Given the description of an element on the screen output the (x, y) to click on. 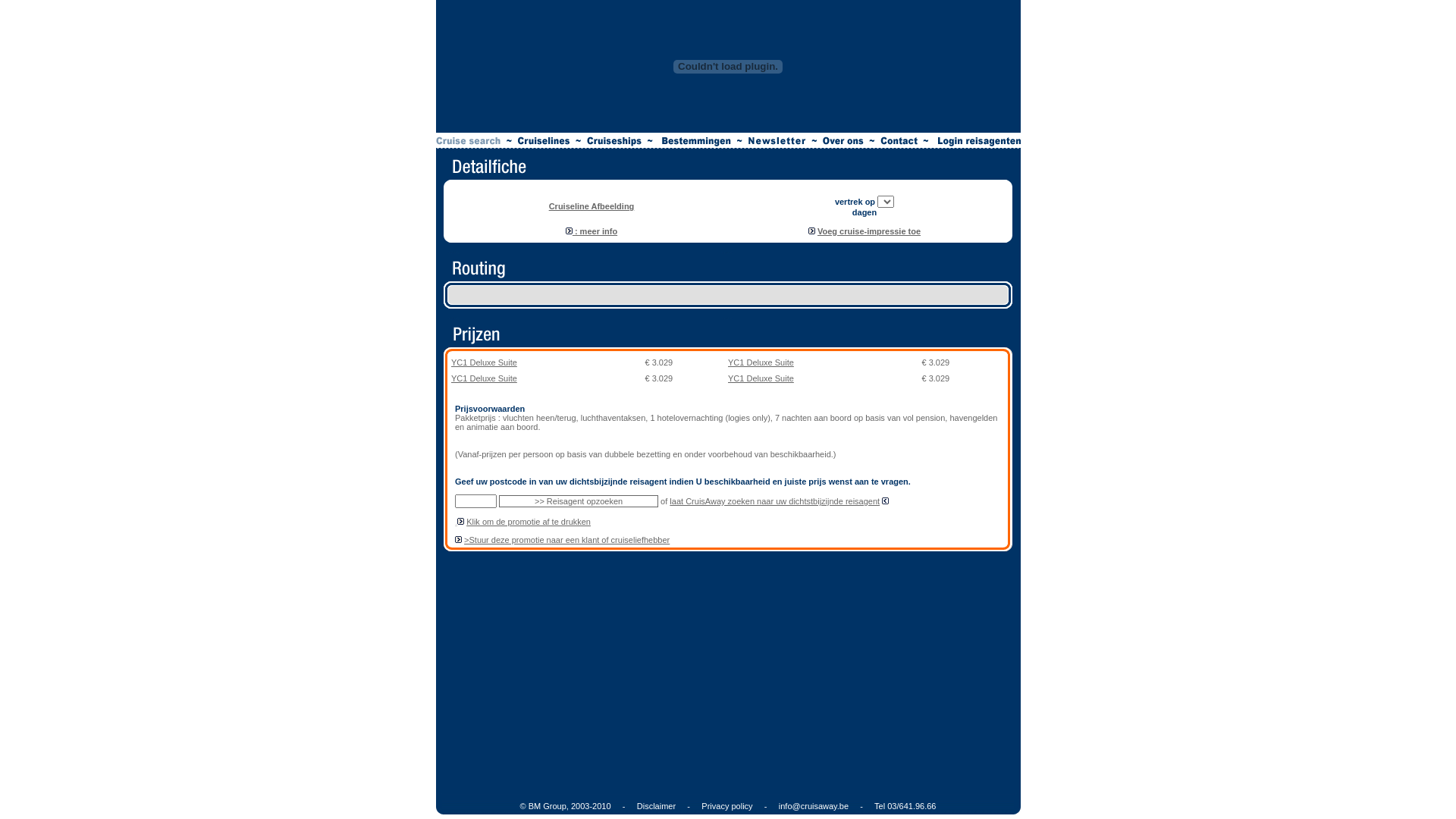
Cruiseline Afbeelding Element type: text (591, 205)
YC1 Deluxe Suite Element type: text (760, 377)
>> Reisagent opzoeken Element type: text (578, 501)
Klik om de promotie af te drukken Element type: text (528, 521)
laat CruisAway zoeken naar uw dichtstbijzijnde reisagent Element type: text (774, 500)
Privacy policy Element type: text (726, 805)
>Stuur deze promotie naar een klant of cruiseliefhebber Element type: text (566, 539)
info@cruisaway.be Element type: text (813, 805)
: meer info Element type: text (591, 230)
Disclaimer Element type: text (656, 805)
YC1 Deluxe Suite Element type: text (484, 377)
YC1 Deluxe Suite Element type: text (760, 362)
. Element type: text (456, 521)
YC1 Deluxe Suite Element type: text (484, 362)
Voeg cruise-impressie toe Element type: text (868, 230)
